Given the description of an element on the screen output the (x, y) to click on. 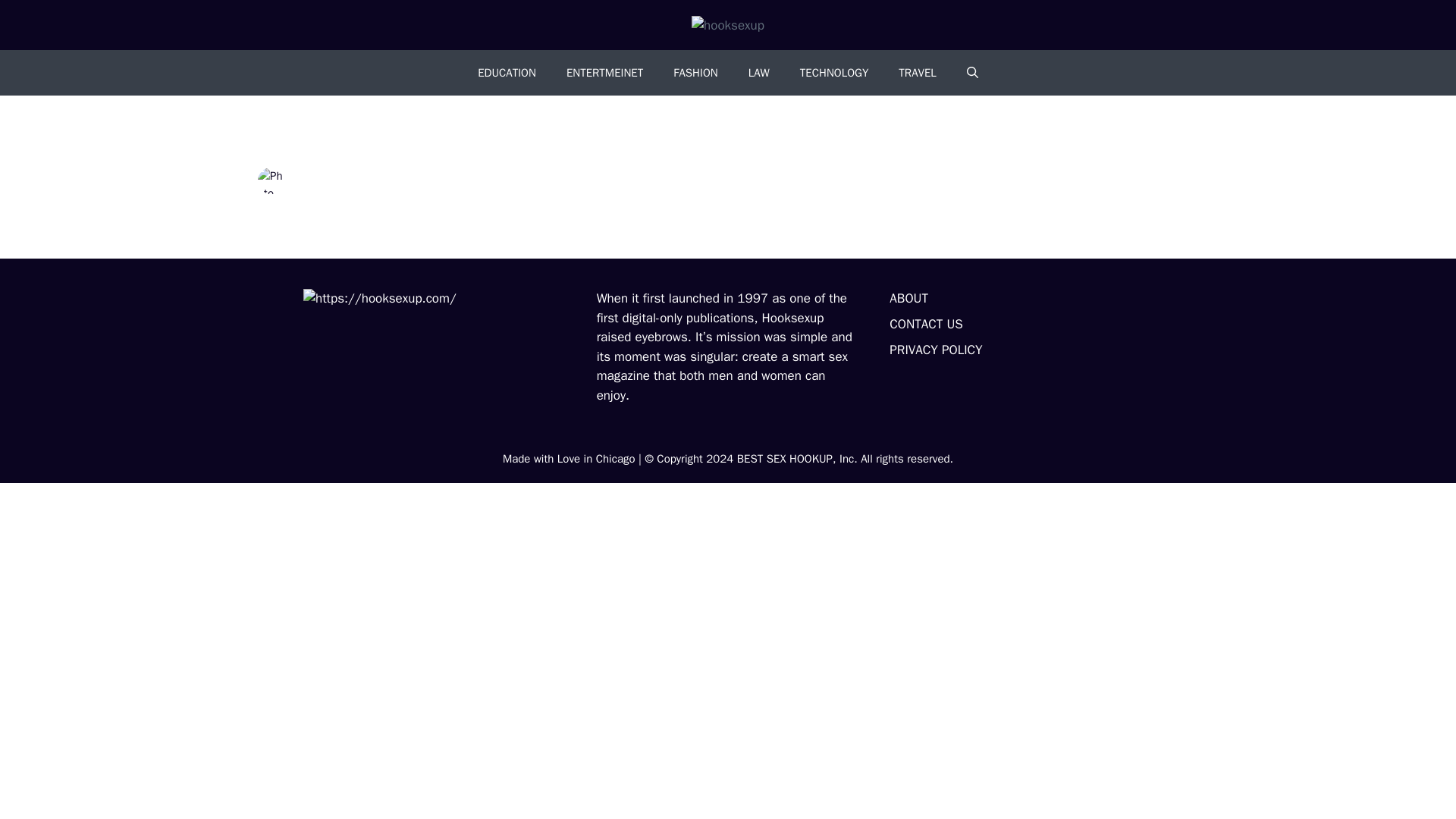
EDUCATION (507, 72)
TRAVEL (916, 72)
FASHION (695, 72)
ENTERTMEINET (604, 72)
LAW (758, 72)
ABOUT (908, 298)
PRIVACY POLICY (935, 349)
TECHNOLOGY (833, 72)
CONTACT US (925, 324)
